Given the description of an element on the screen output the (x, y) to click on. 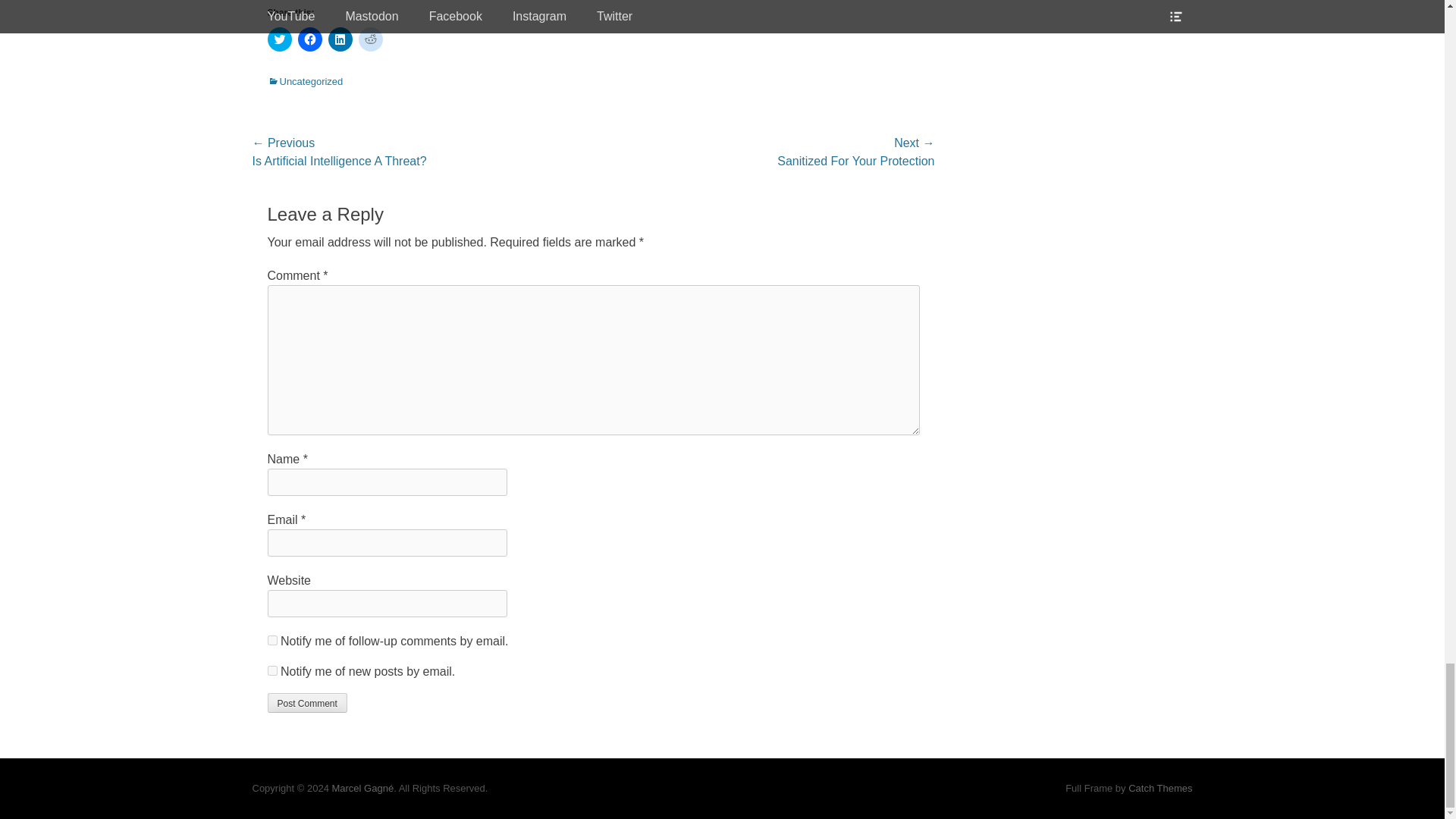
Click to share on Reddit (369, 39)
Click to share on Facebook (309, 39)
Click to share on LinkedIn (339, 39)
Click to share on Twitter (278, 39)
Post Comment (306, 702)
Post Comment (306, 702)
subscribe (271, 670)
subscribe (271, 640)
Uncategorized (304, 81)
